Given the description of an element on the screen output the (x, y) to click on. 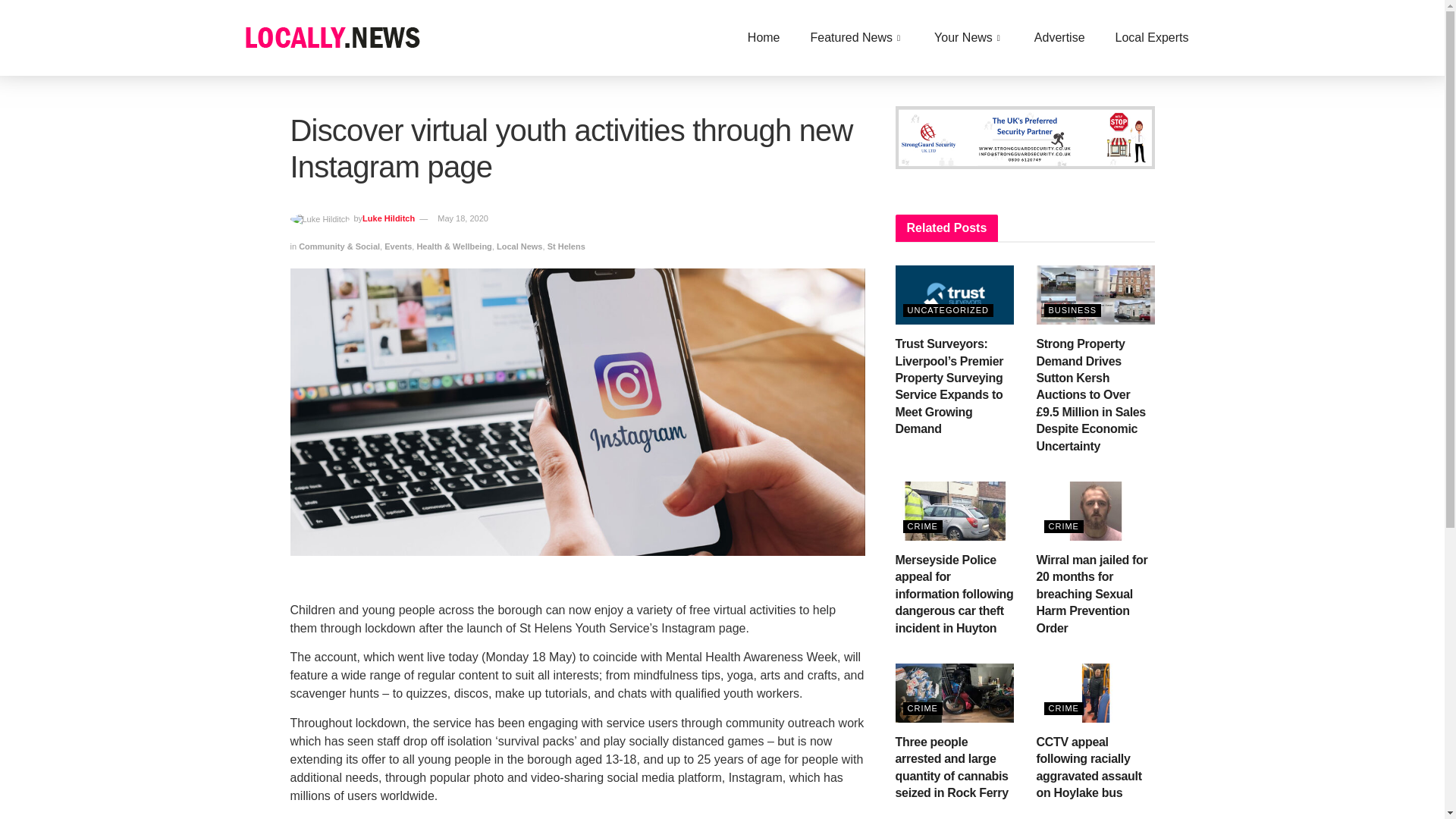
Local Experts (1152, 37)
Advertise (1059, 37)
Home (763, 37)
Featured News (857, 37)
Your News (968, 37)
